Given the description of an element on the screen output the (x, y) to click on. 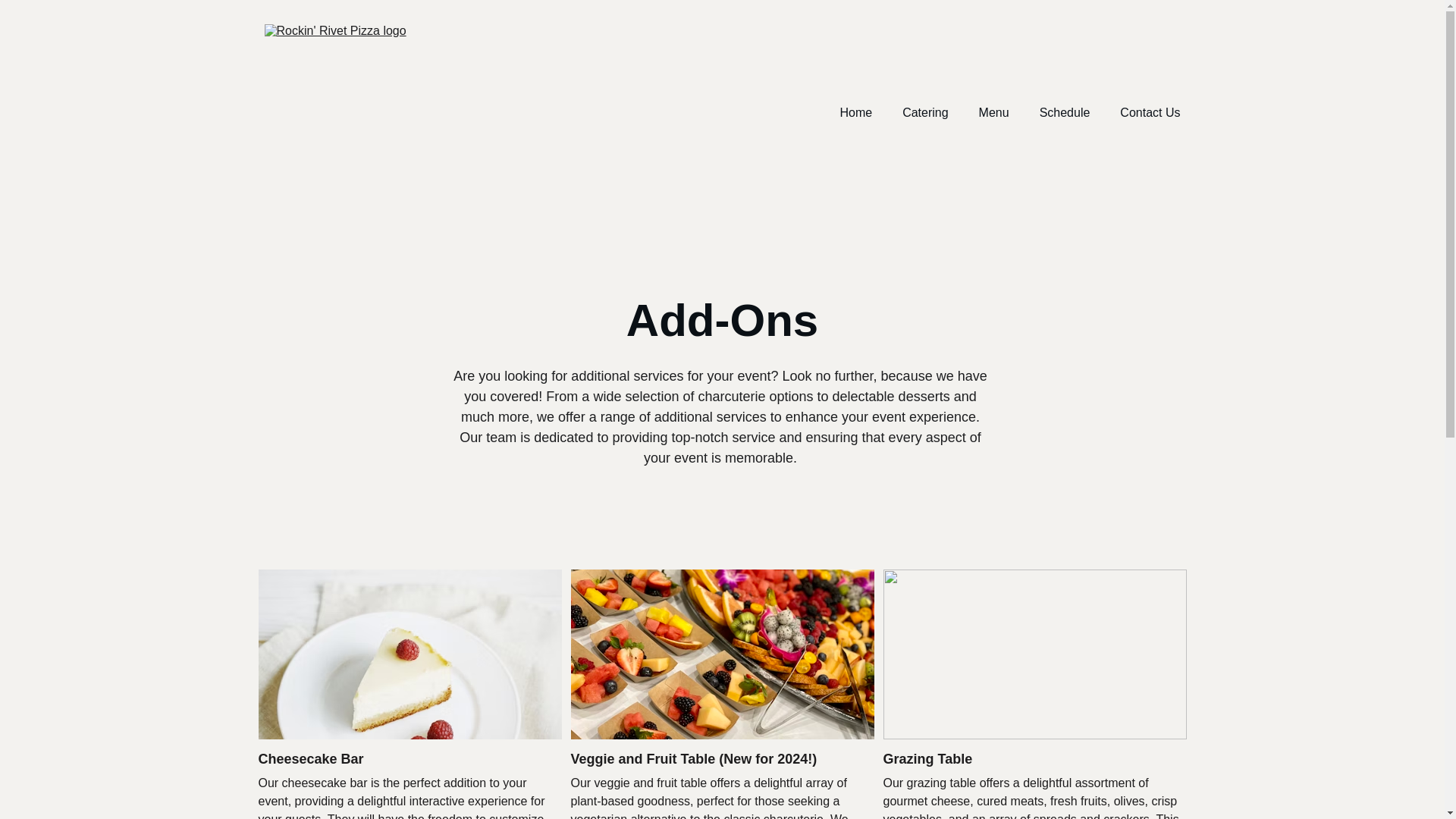
Contact Us (1149, 113)
piece of cakes on plate (408, 654)
Catering (924, 113)
Schedule (1064, 113)
a table topped with lots of different types of fruit (721, 654)
Home (856, 113)
Menu (993, 113)
